Given the description of an element on the screen output the (x, y) to click on. 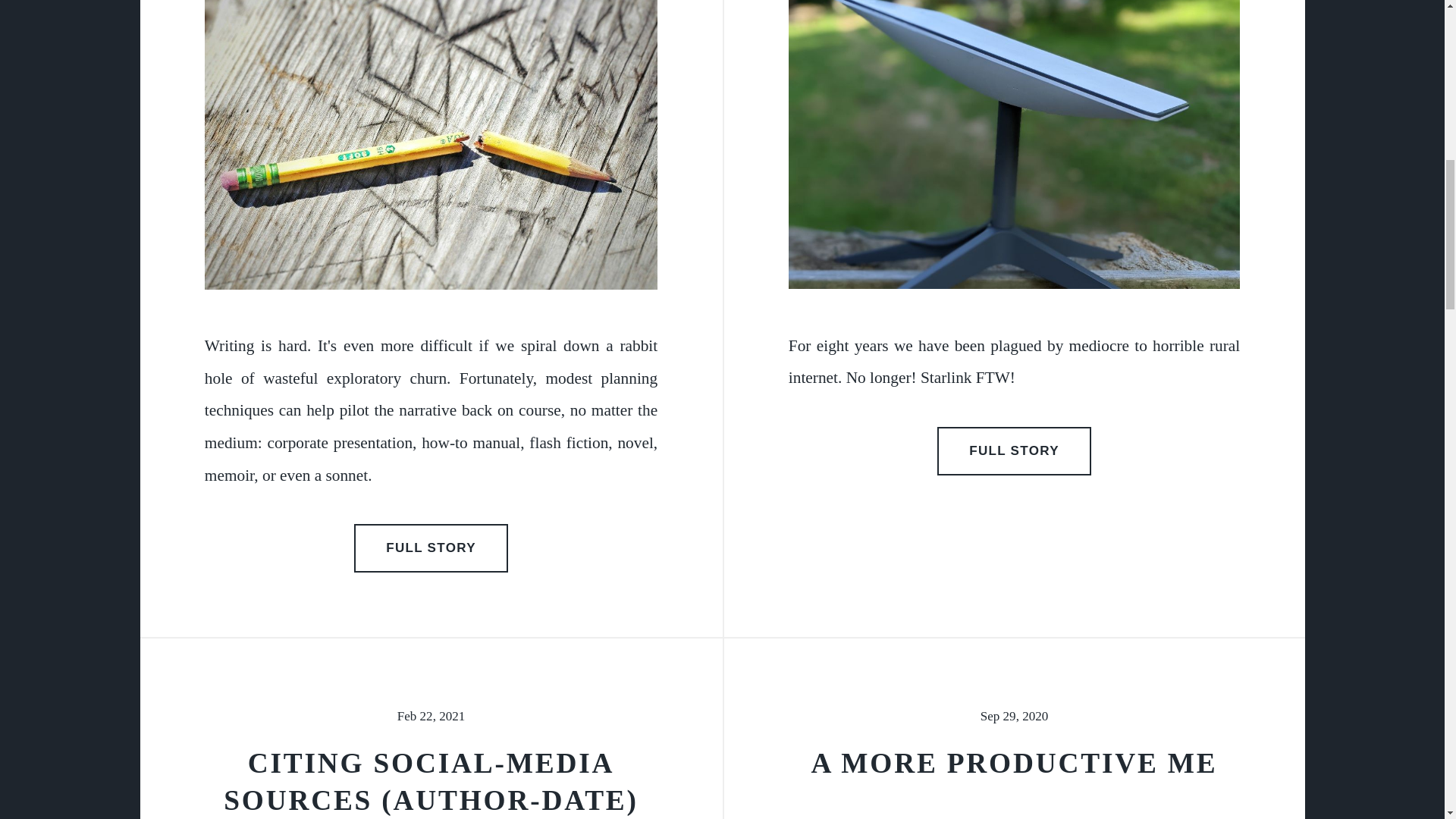
A MORE PRODUCTIVE ME (1013, 762)
FULL STORY (1014, 450)
FULL STORY (430, 548)
